Given the description of an element on the screen output the (x, y) to click on. 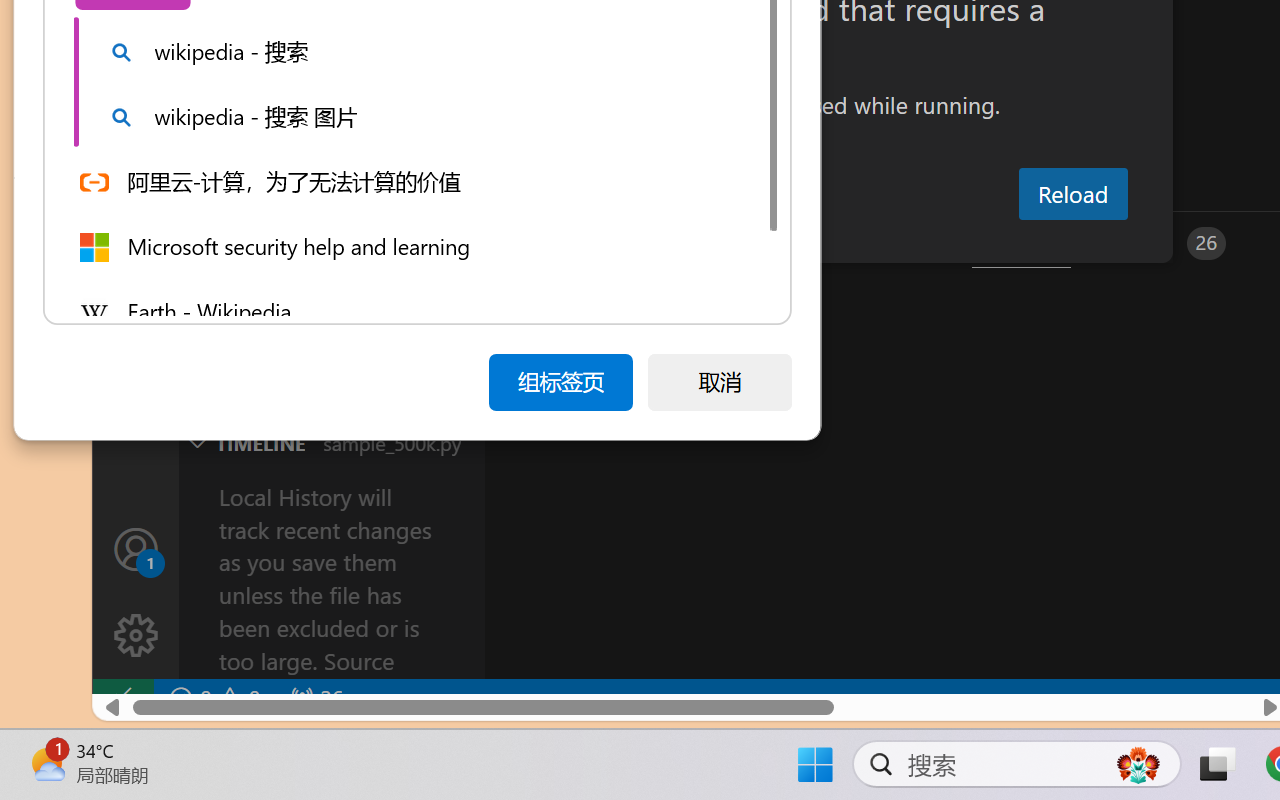
Reload (1071, 193)
